Given the description of an element on the screen output the (x, y) to click on. 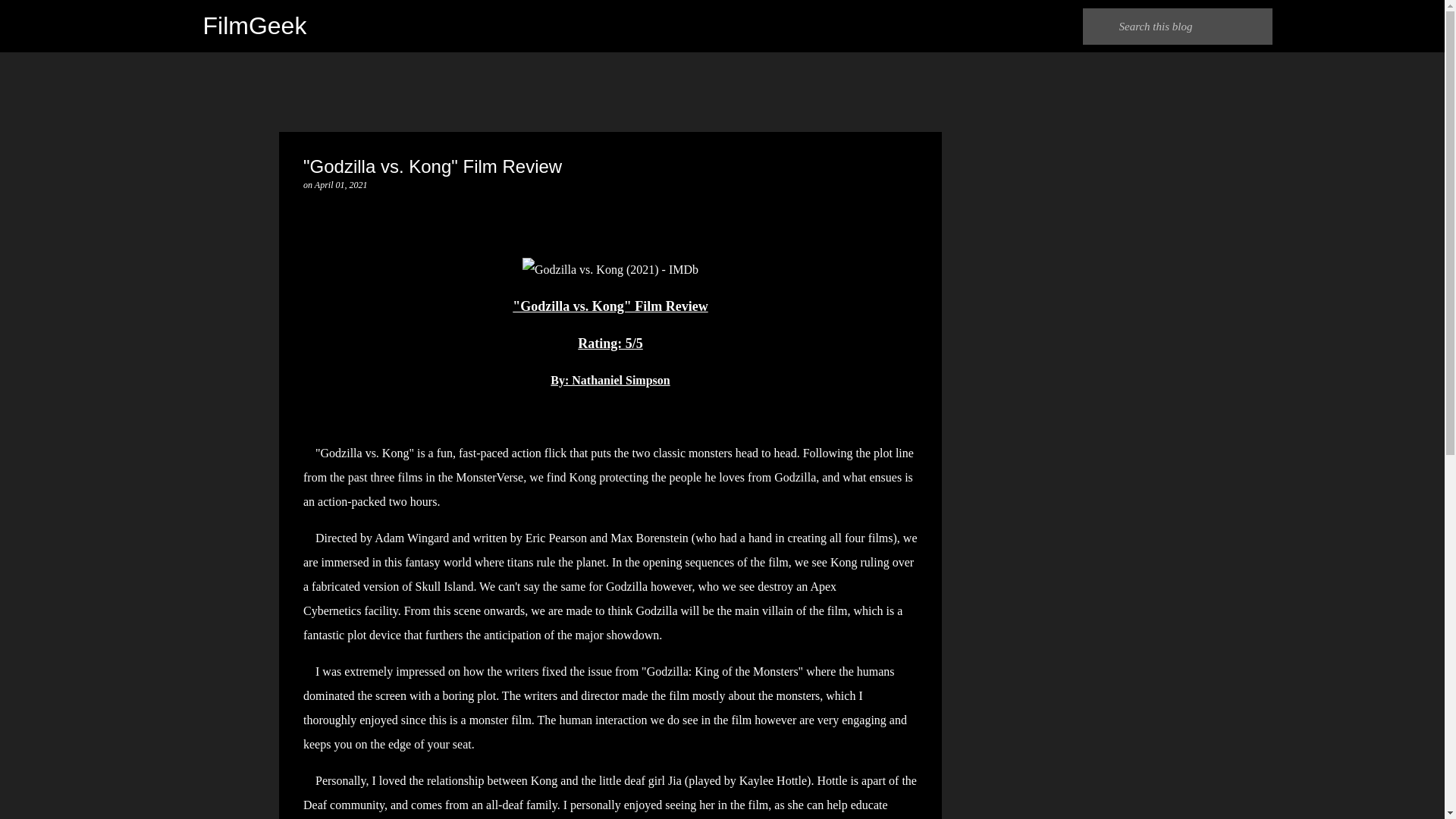
April 01, 2021 (341, 184)
permanent link (341, 184)
FilmGeek (255, 25)
